Given the description of an element on the screen output the (x, y) to click on. 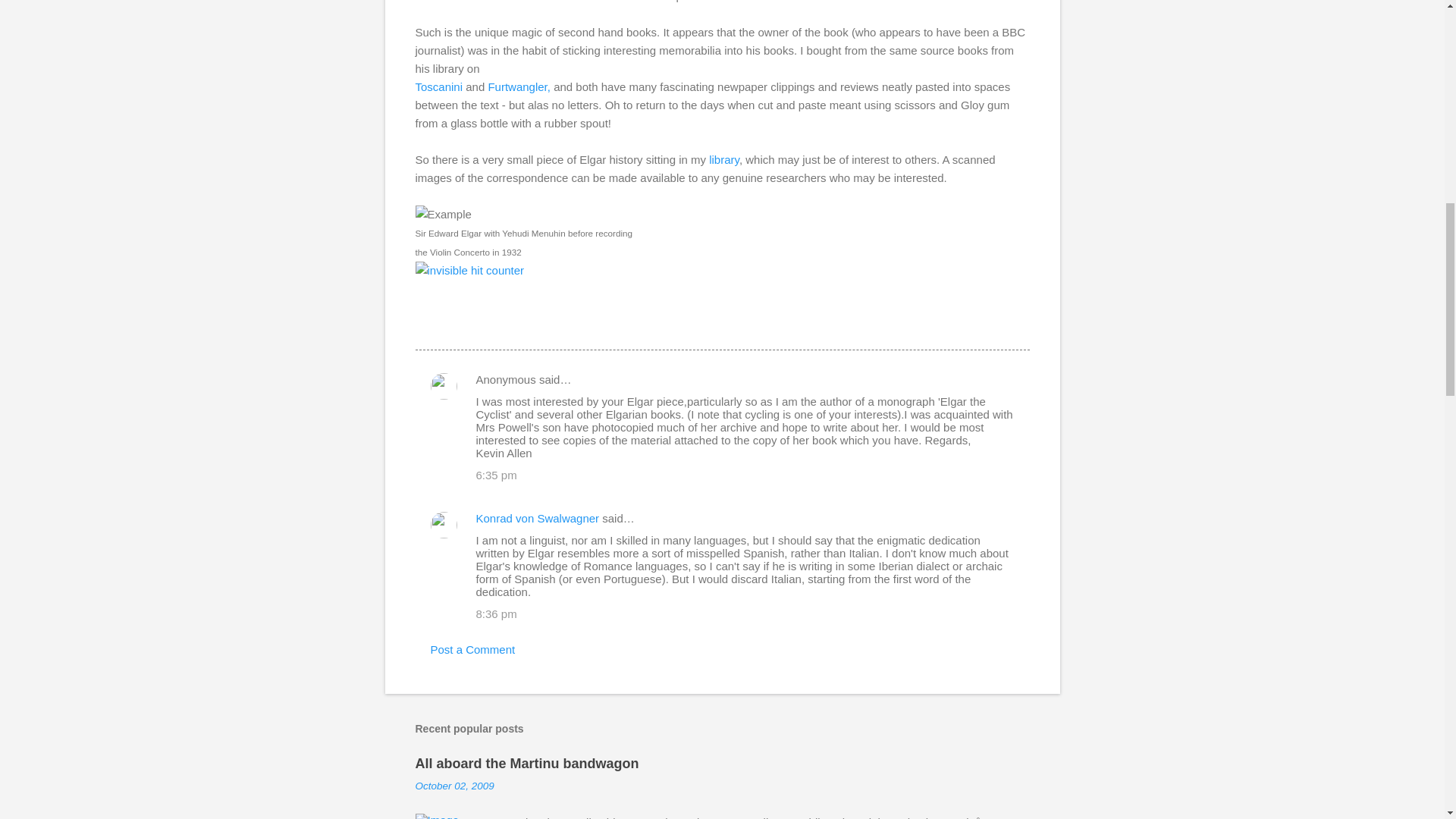
All aboard the Martinu bandwagon (526, 763)
Furtwangler, (518, 86)
library (724, 159)
Email Post (423, 321)
Konrad von Swalwagner (537, 517)
Toscanini (438, 86)
8:36 pm (496, 613)
October 02, 2009 (454, 785)
Post a Comment (472, 649)
6:35 pm (496, 474)
